Given the description of an element on the screen output the (x, y) to click on. 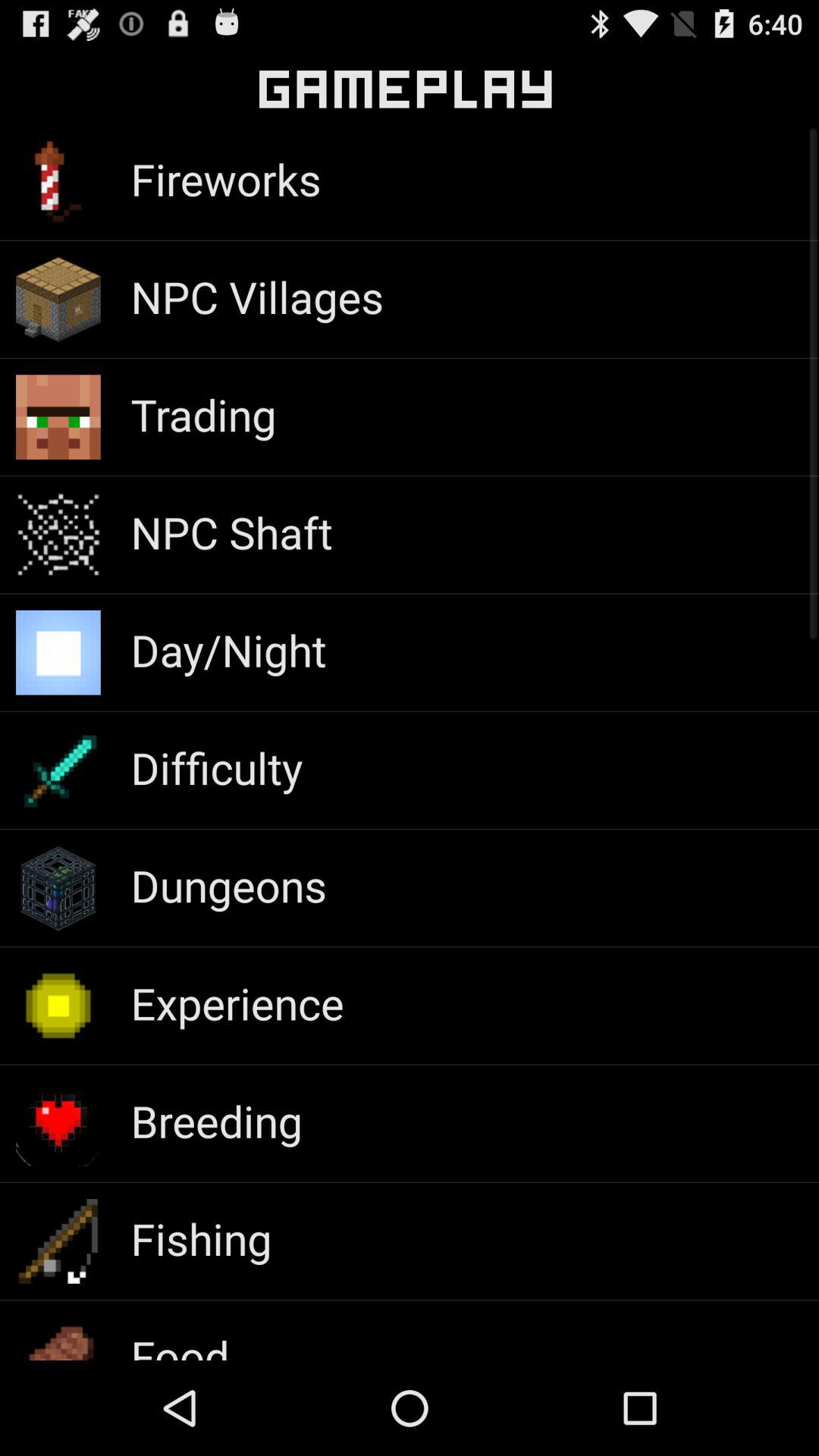
choose icon below breeding (200, 1238)
